Given the description of an element on the screen output the (x, y) to click on. 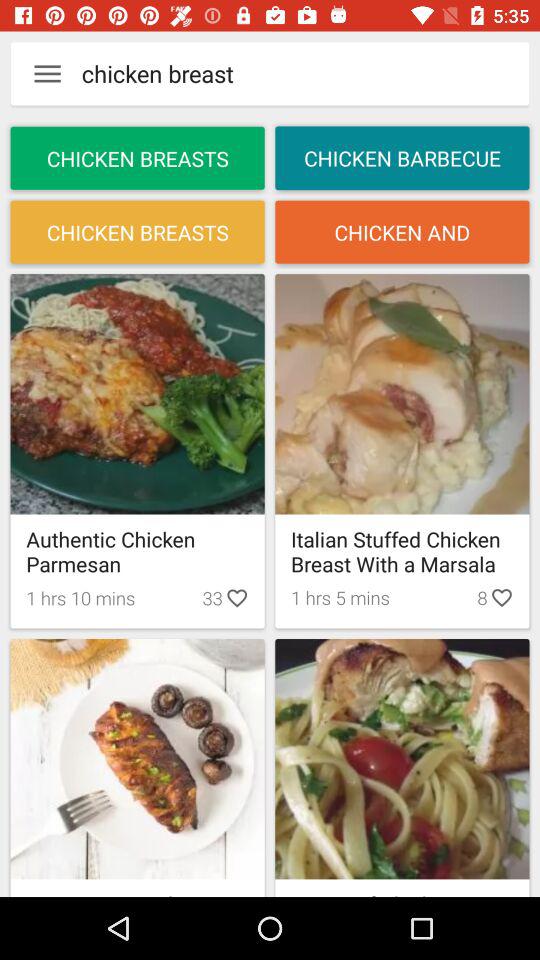
select the last image (401, 759)
last row 1st image of the page (137, 759)
select option above chicken and (401, 157)
click on the first frame in the first row (137, 450)
click on text next to menu button (280, 73)
click on image below orange button (401, 393)
